Given the description of an element on the screen output the (x, y) to click on. 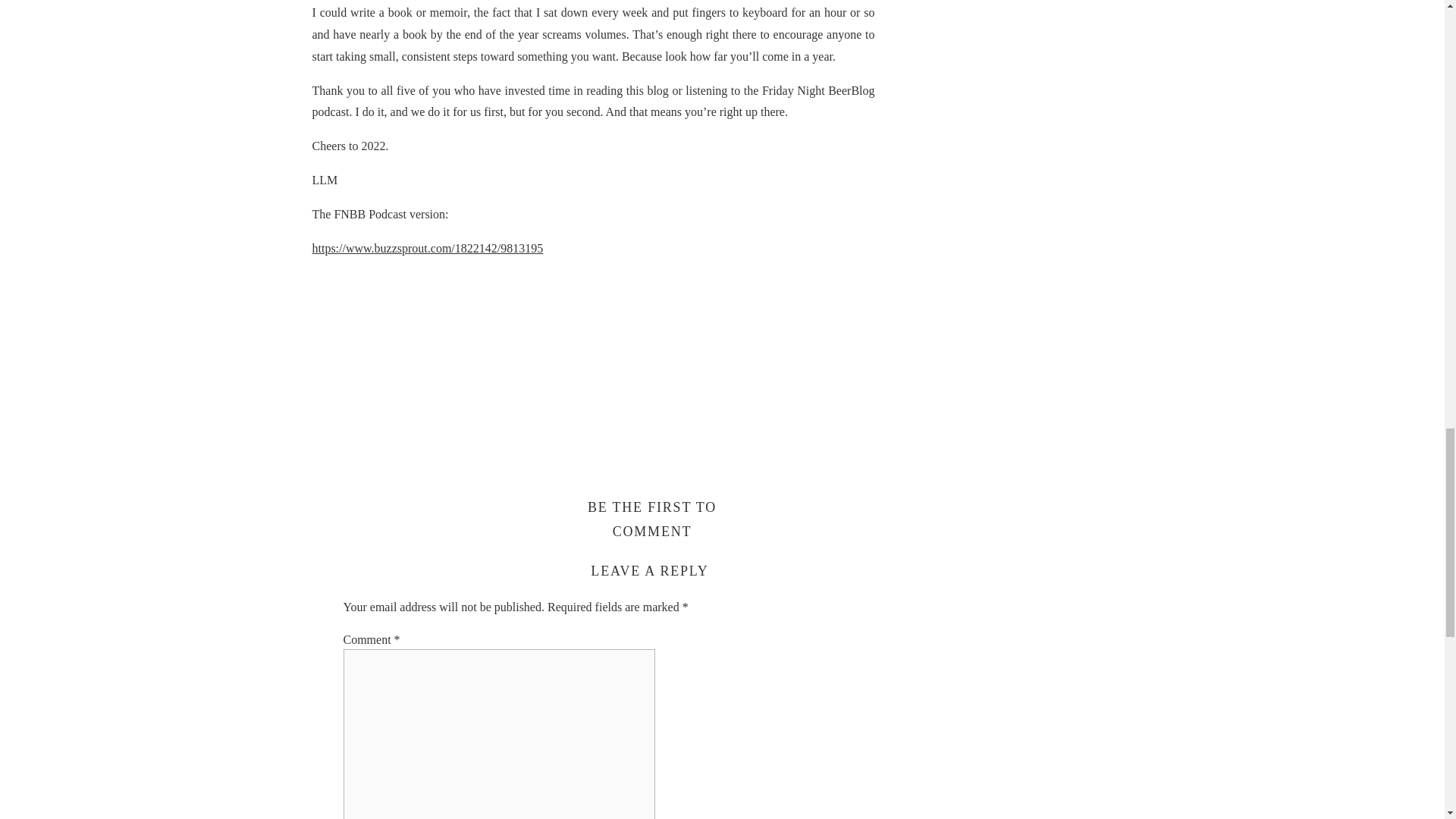
BE THE FIRST TO COMMENT (652, 518)
